Given the description of an element on the screen output the (x, y) to click on. 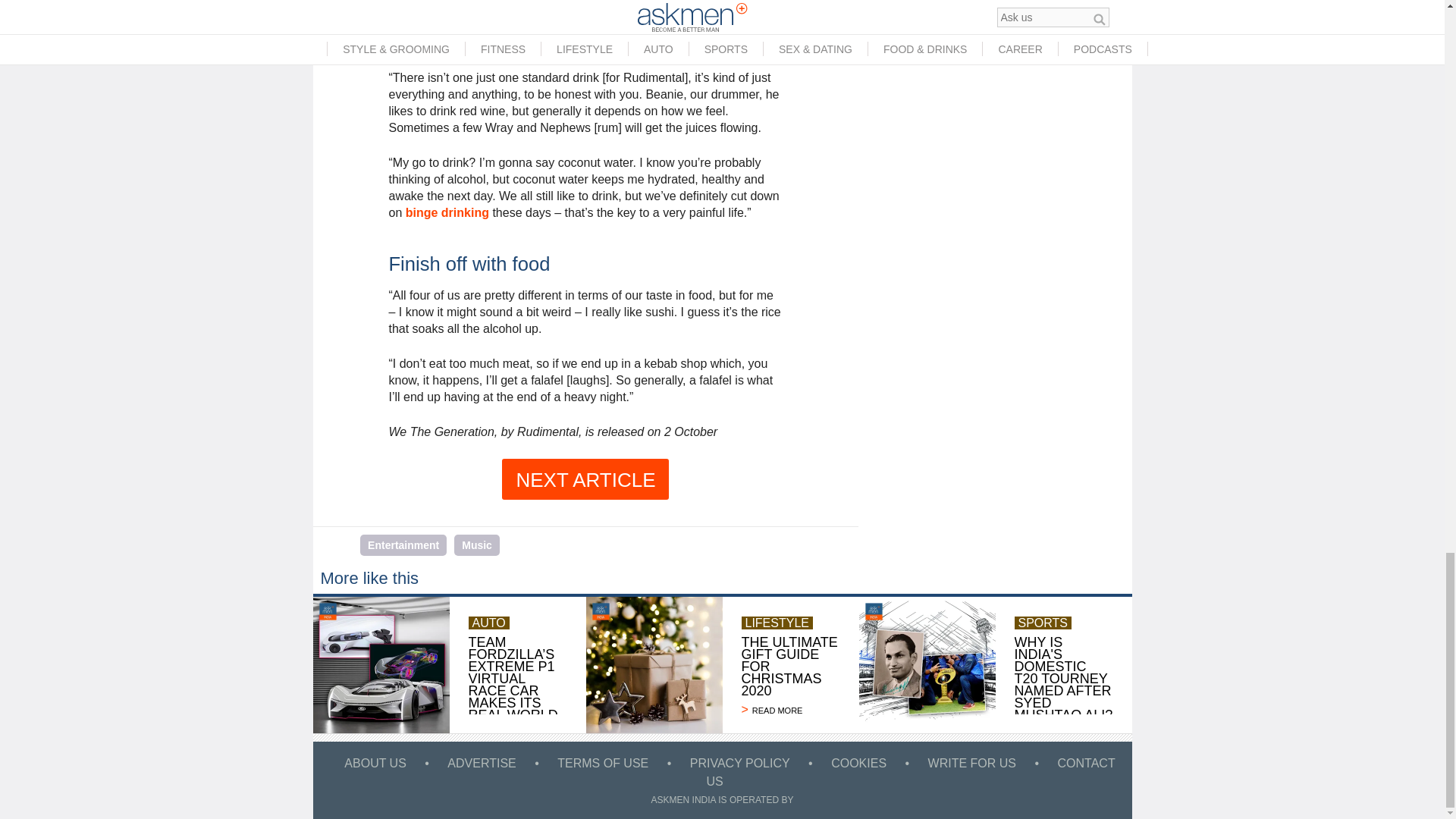
The Ultimate Gift Guide For Christmas 2020 (790, 709)
The Ultimate Gift Guide For Christmas 2020 (653, 665)
